Given the description of an element on the screen output the (x, y) to click on. 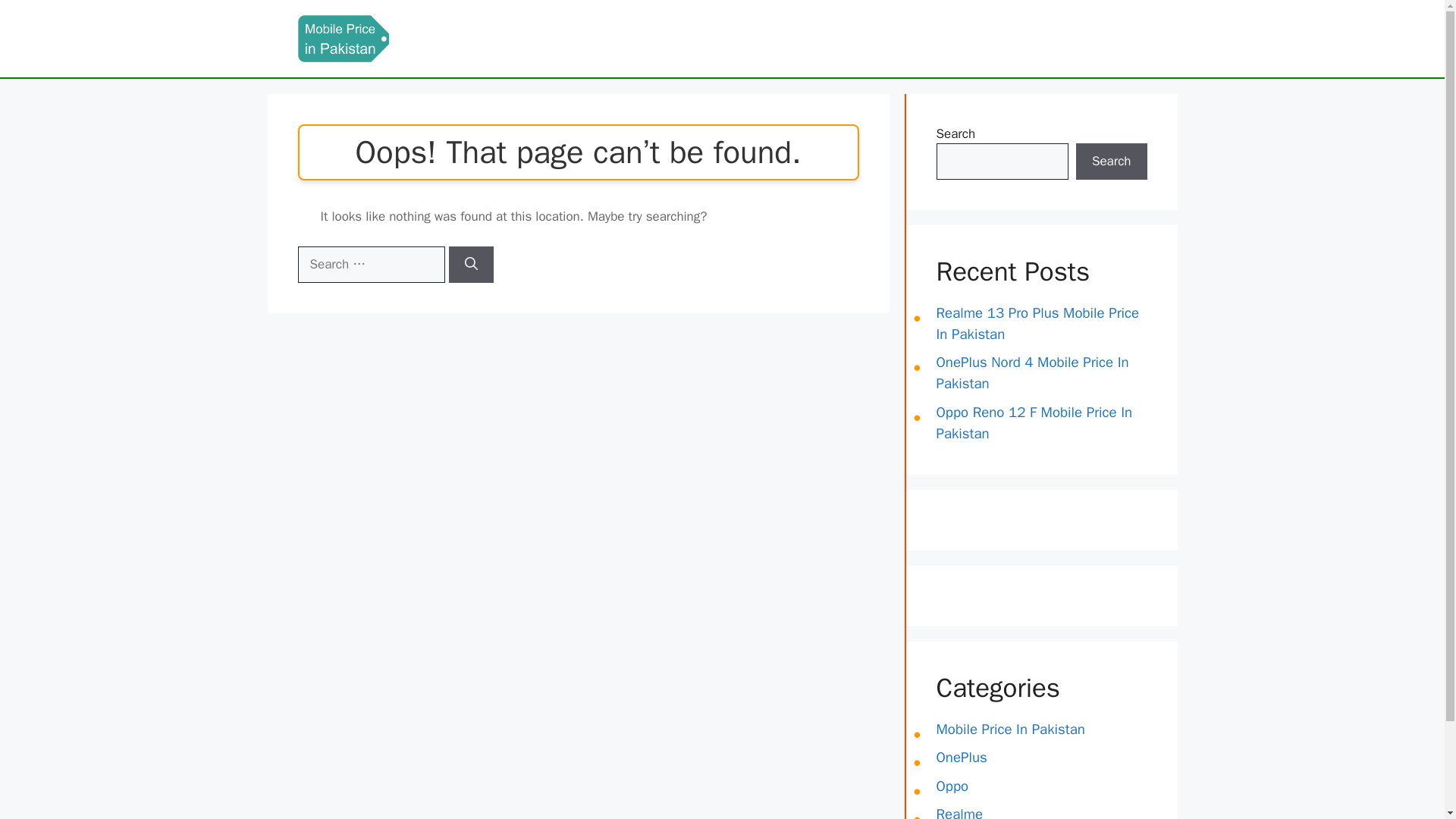
OnePlus (961, 757)
Realme 13 Pro Plus Mobile Price In Pakistan (1037, 323)
Oppo Reno 12 F Mobile Price In Pakistan (1034, 423)
Mobile Price In Pakistan (1010, 729)
Search for: (370, 264)
OnePlus Nord 4 Mobile Price In Pakistan (1032, 372)
Search (1111, 161)
Realme (959, 812)
Oppo (952, 786)
